Given the description of an element on the screen output the (x, y) to click on. 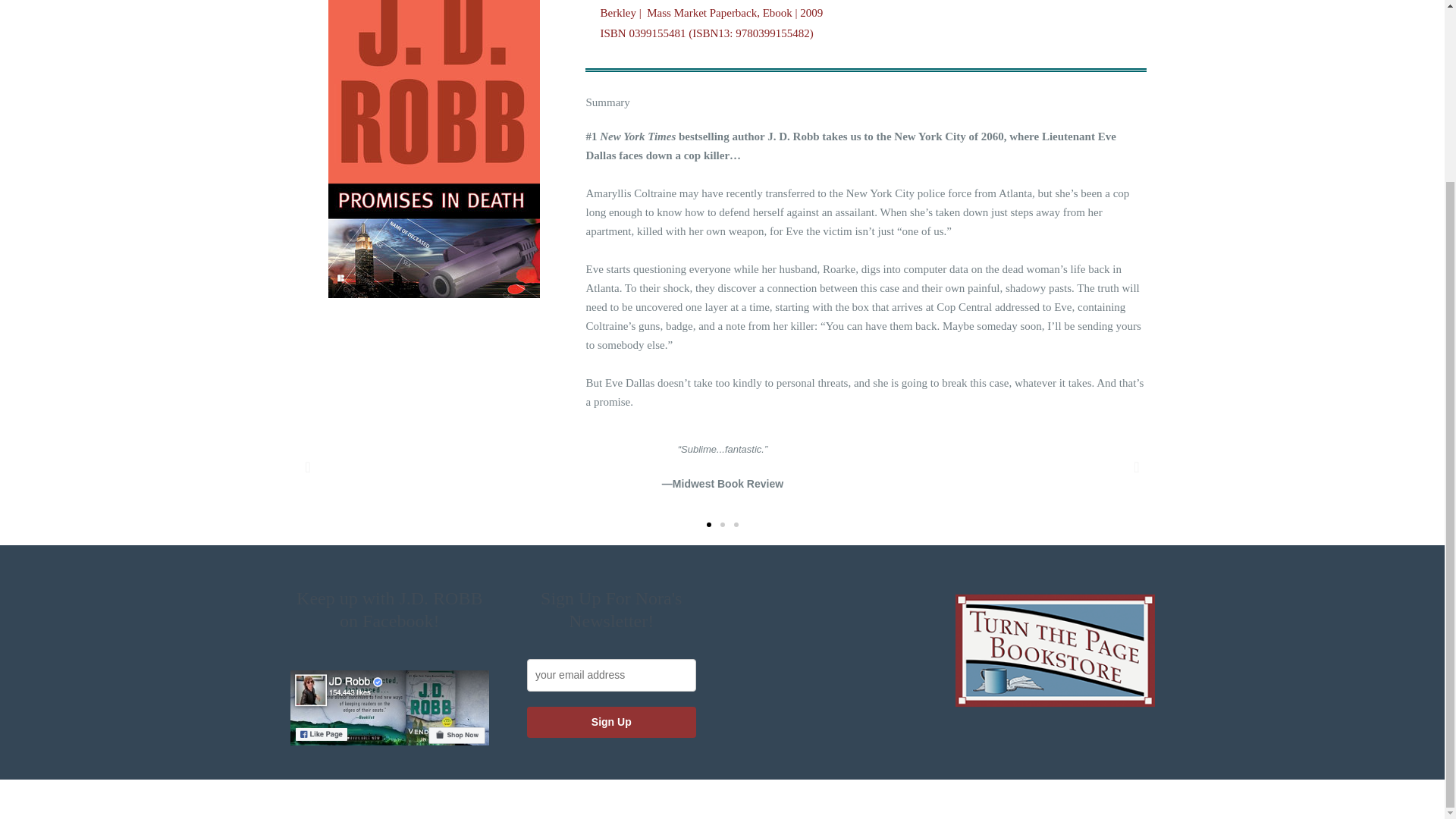
Sign Up (611, 721)
